Given the description of an element on the screen output the (x, y) to click on. 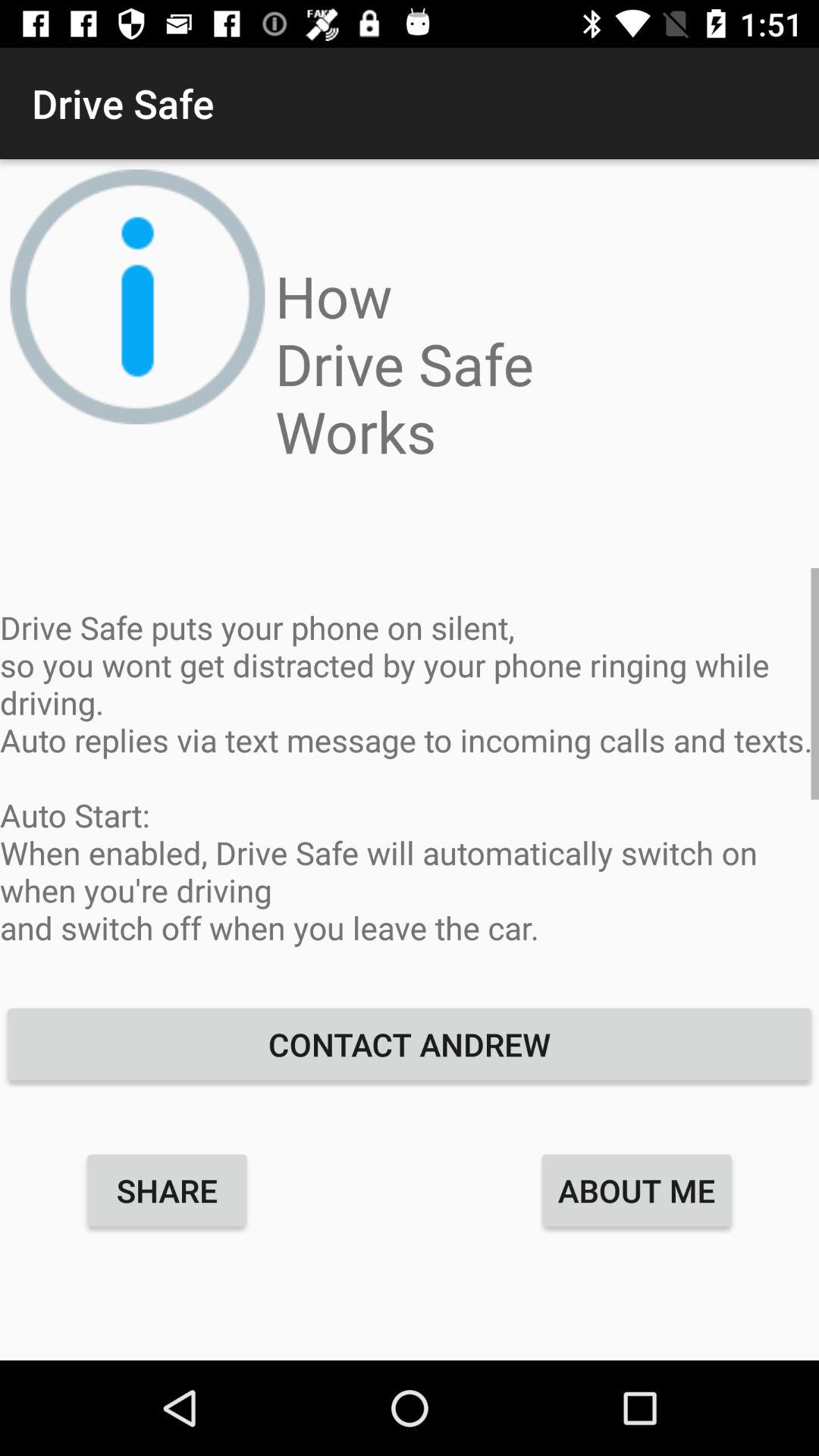
flip to the contact andrew (409, 1044)
